Given the description of an element on the screen output the (x, y) to click on. 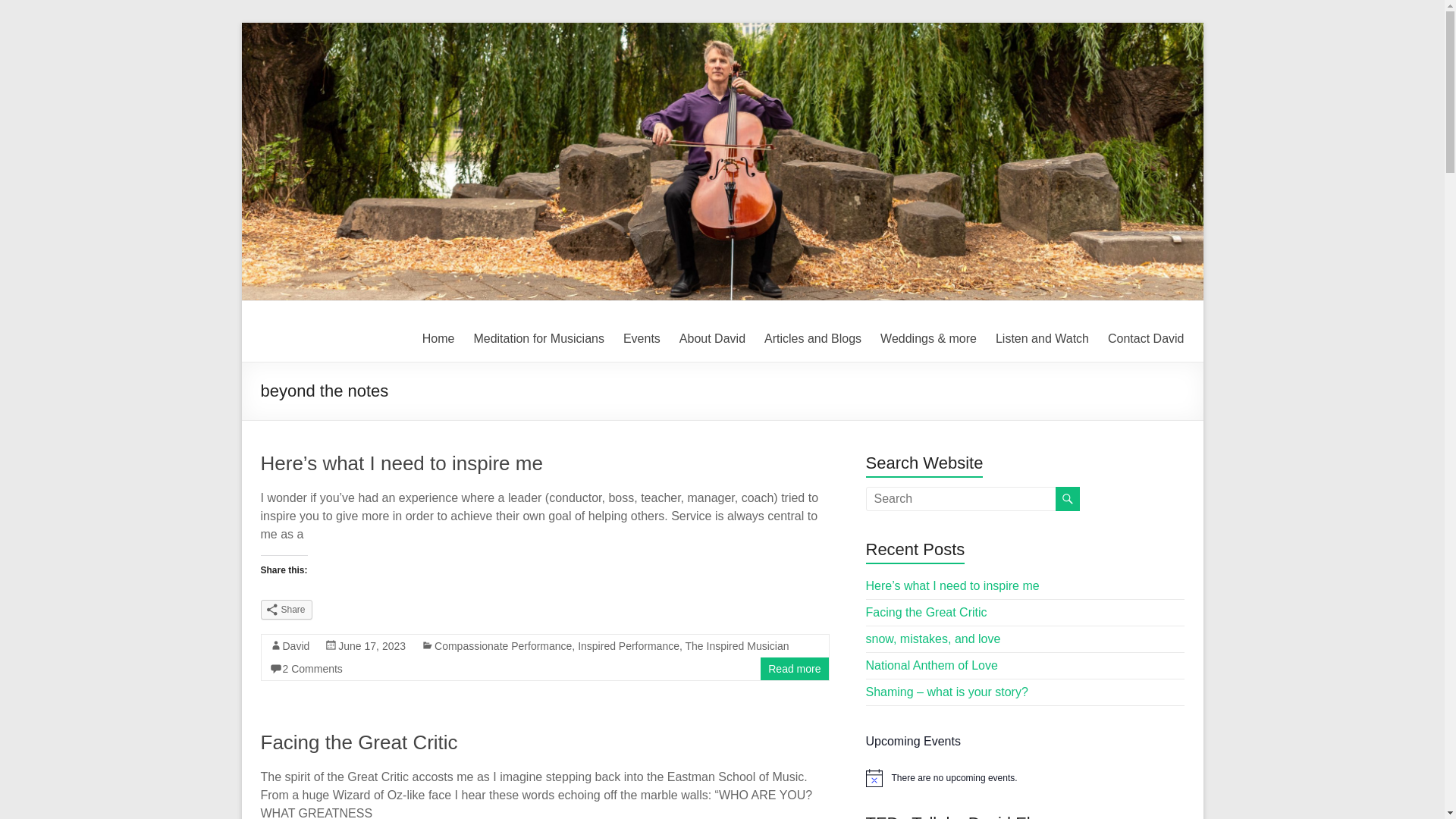
Share (286, 609)
Read more (794, 668)
June 17, 2023 (371, 645)
David (295, 645)
David Eby (322, 332)
Events (642, 338)
Compassionate Performance (502, 645)
Contact David (1146, 338)
Facing the Great Critic (359, 742)
Home (438, 338)
